Given the description of an element on the screen output the (x, y) to click on. 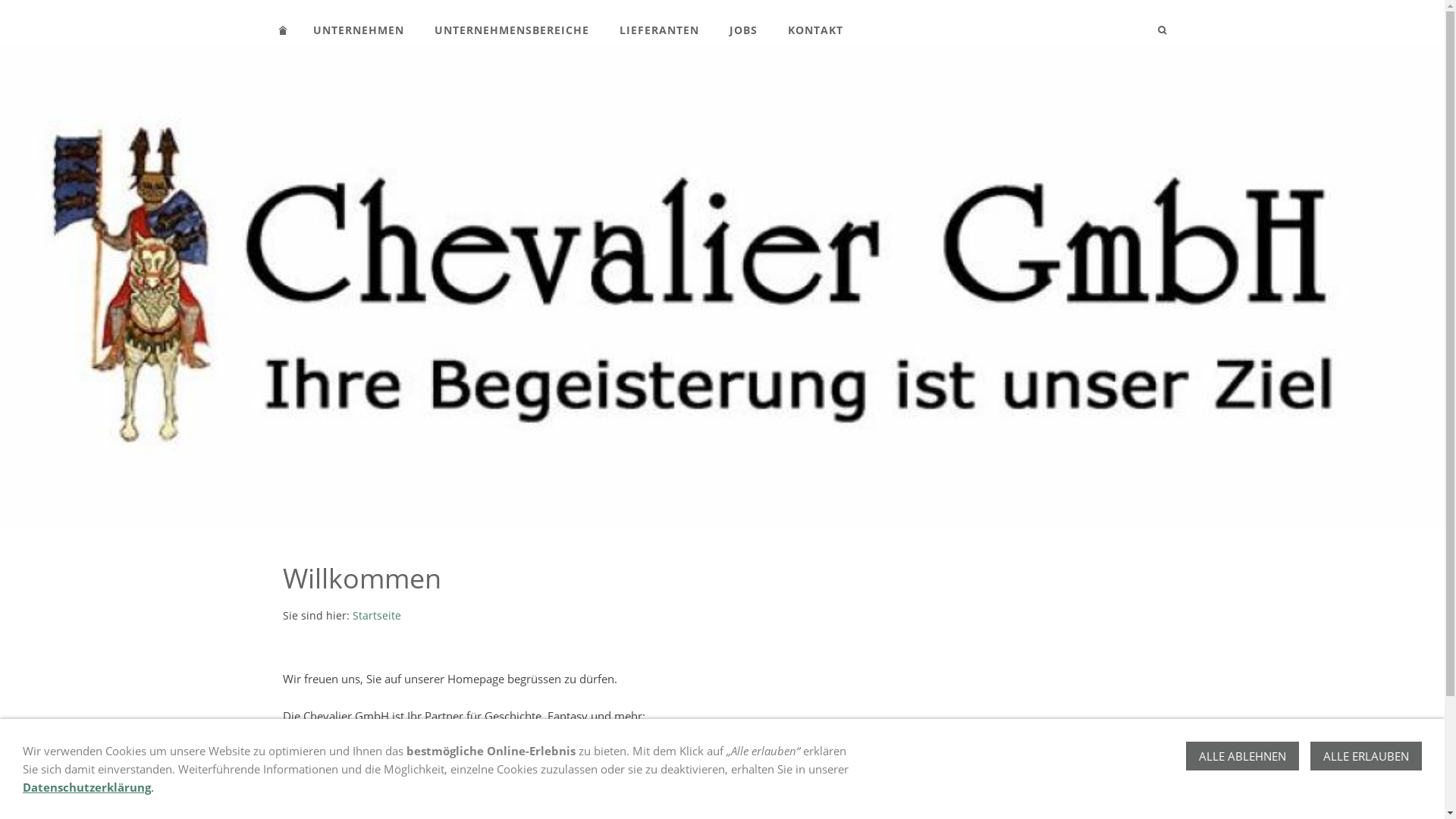
ALLE ERLAUBEN Element type: text (1365, 755)
JOBS Element type: text (743, 29)
Startseite Element type: text (375, 615)
UNTERNEHMEN Element type: text (357, 29)
UNTERNEHMENSBEREICHE Element type: text (510, 29)
KONTAKT Element type: text (814, 29)
LIEFERANTEN Element type: text (658, 29)
ALLE ABLEHNEN Element type: text (1242, 755)
